Given the description of an element on the screen output the (x, y) to click on. 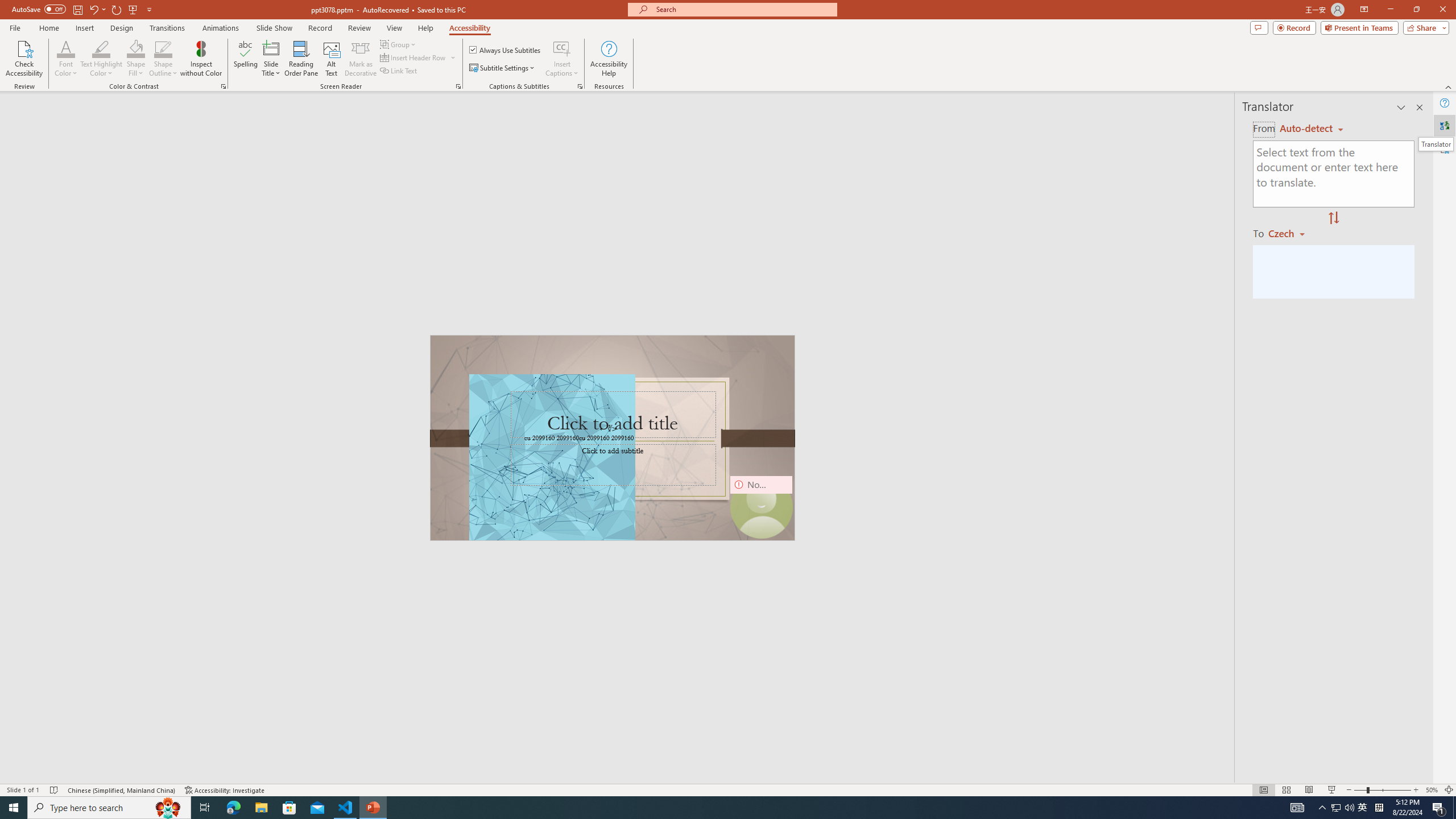
Inspect without Color (201, 58)
Always Use Subtitles (505, 49)
Microsoft search (742, 9)
Czech (1291, 232)
Text Highlight Color (100, 58)
Title TextBox (613, 414)
Mark as Decorative (360, 58)
Slide Title (271, 58)
